Given the description of an element on the screen output the (x, y) to click on. 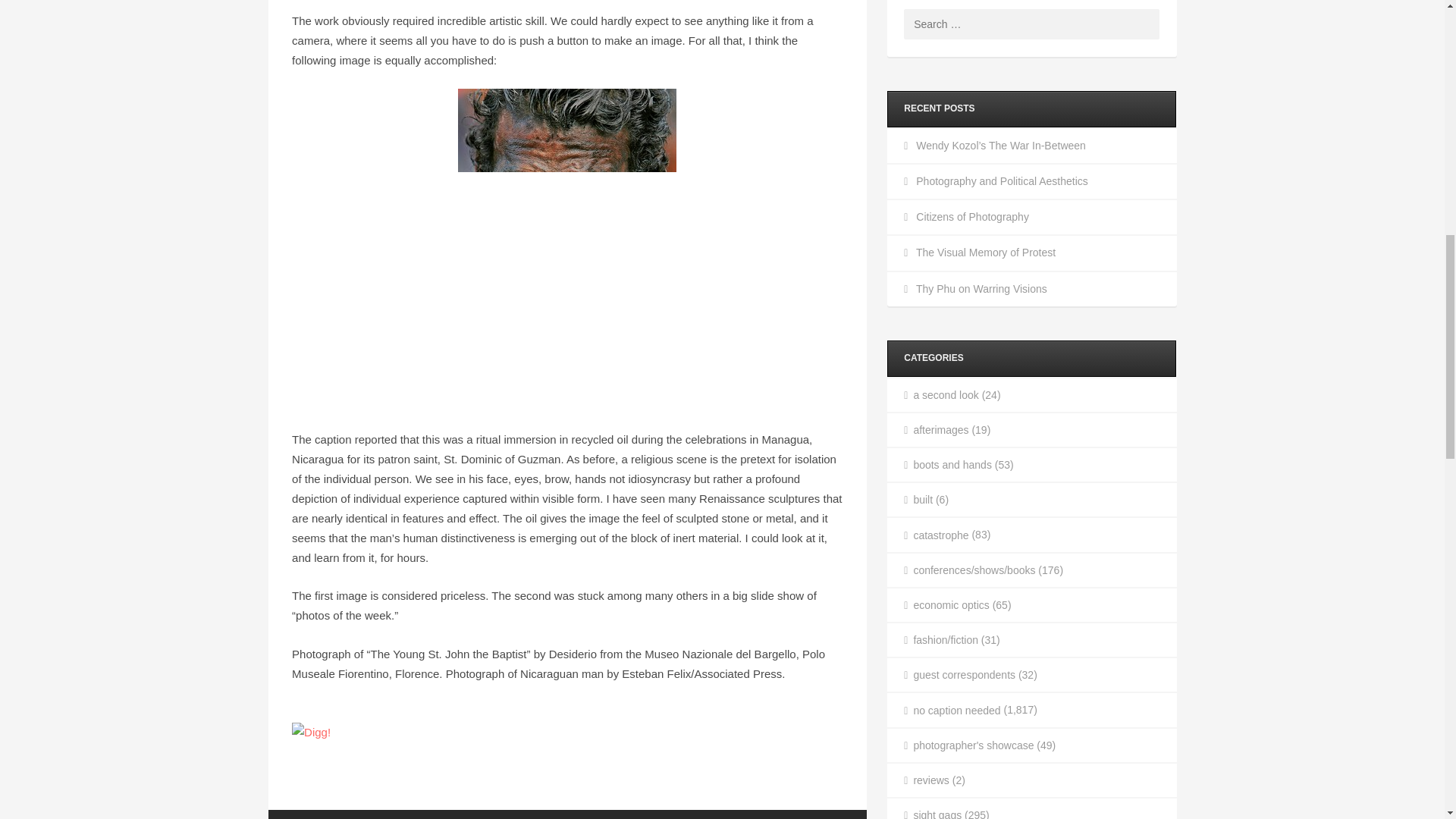
31784129.jpg (567, 248)
